Given the description of an element on the screen output the (x, y) to click on. 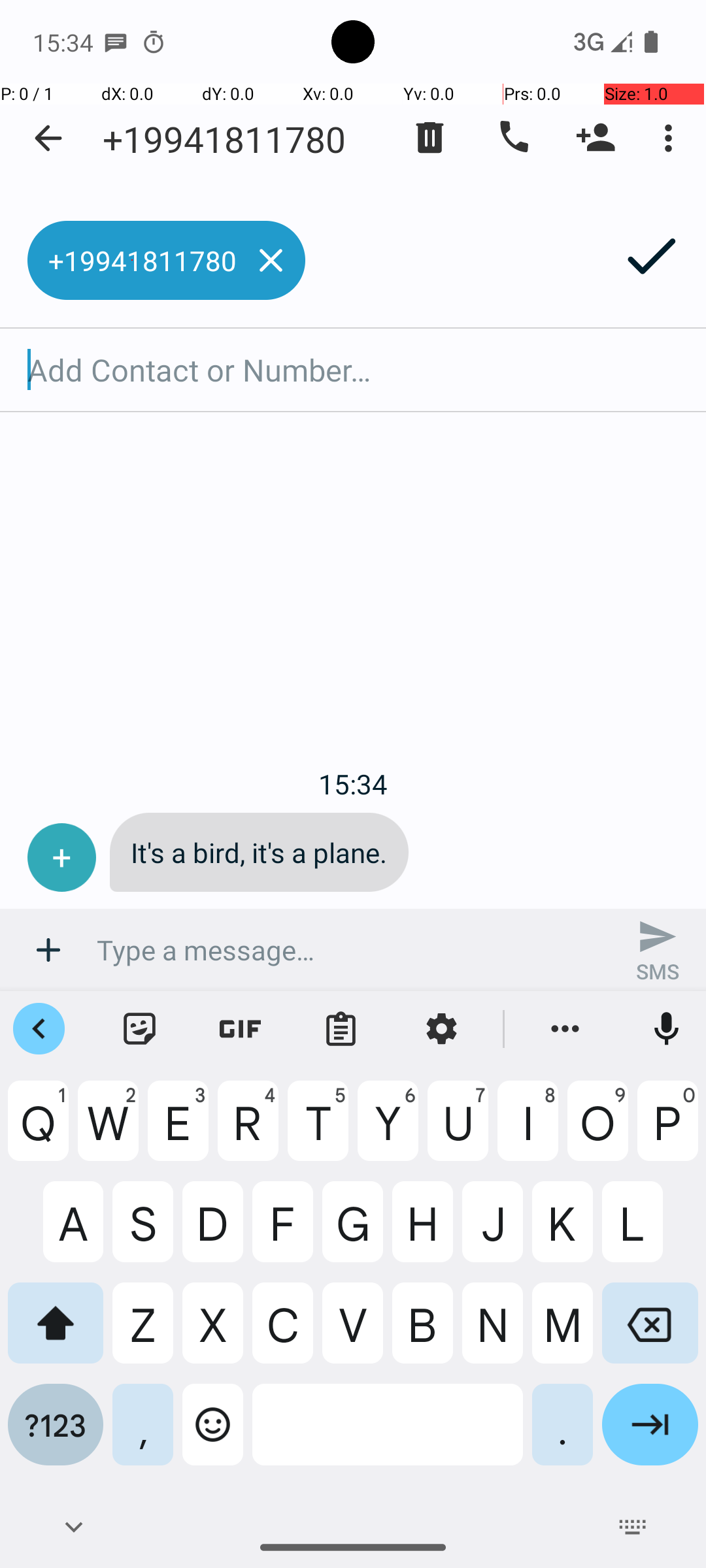
+19941811780 Element type: android.widget.TextView (223, 138)
